Given the description of an element on the screen output the (x, y) to click on. 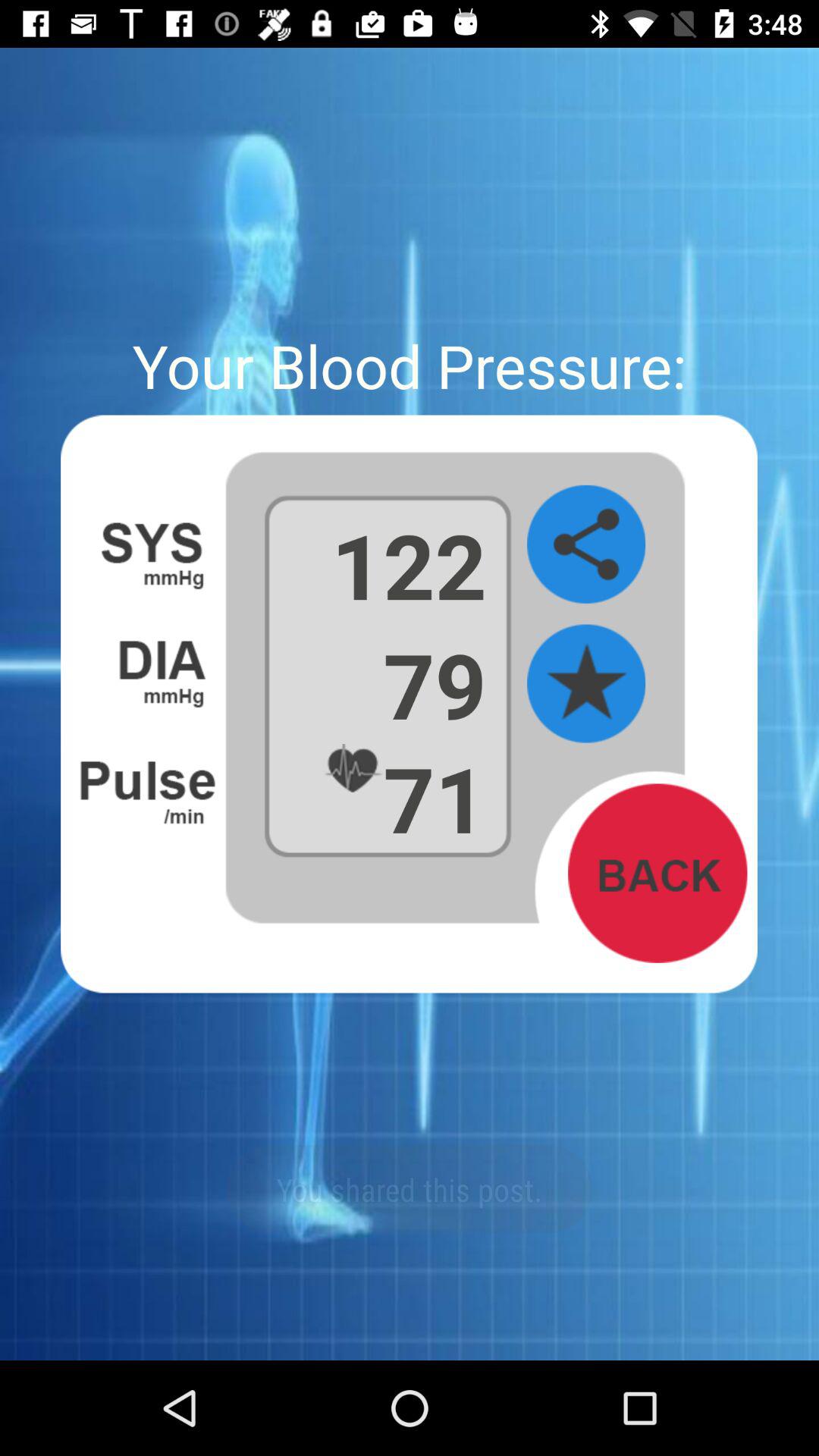
go back (657, 872)
